Given the description of an element on the screen output the (x, y) to click on. 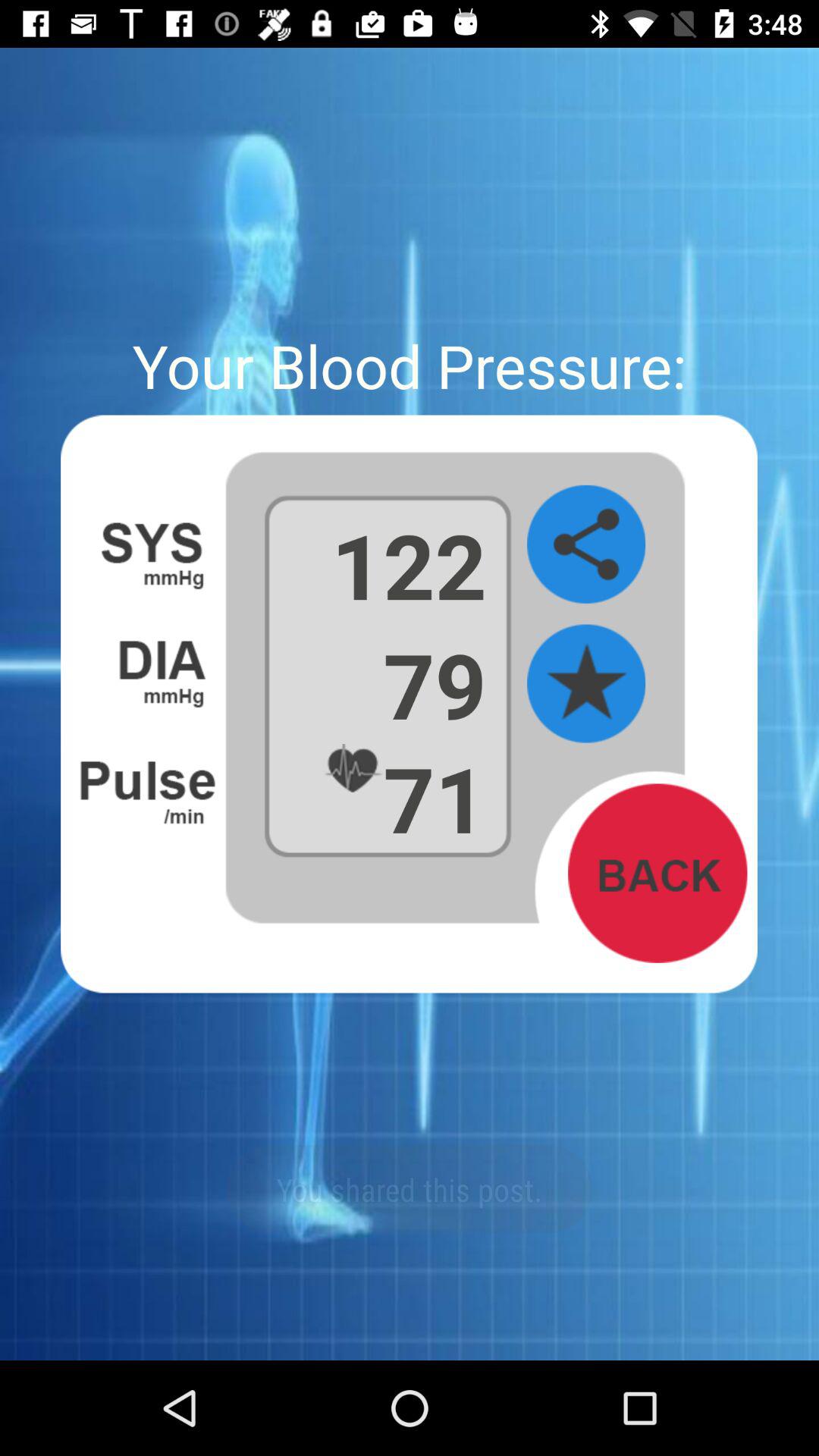
go back (657, 872)
